Given the description of an element on the screen output the (x, y) to click on. 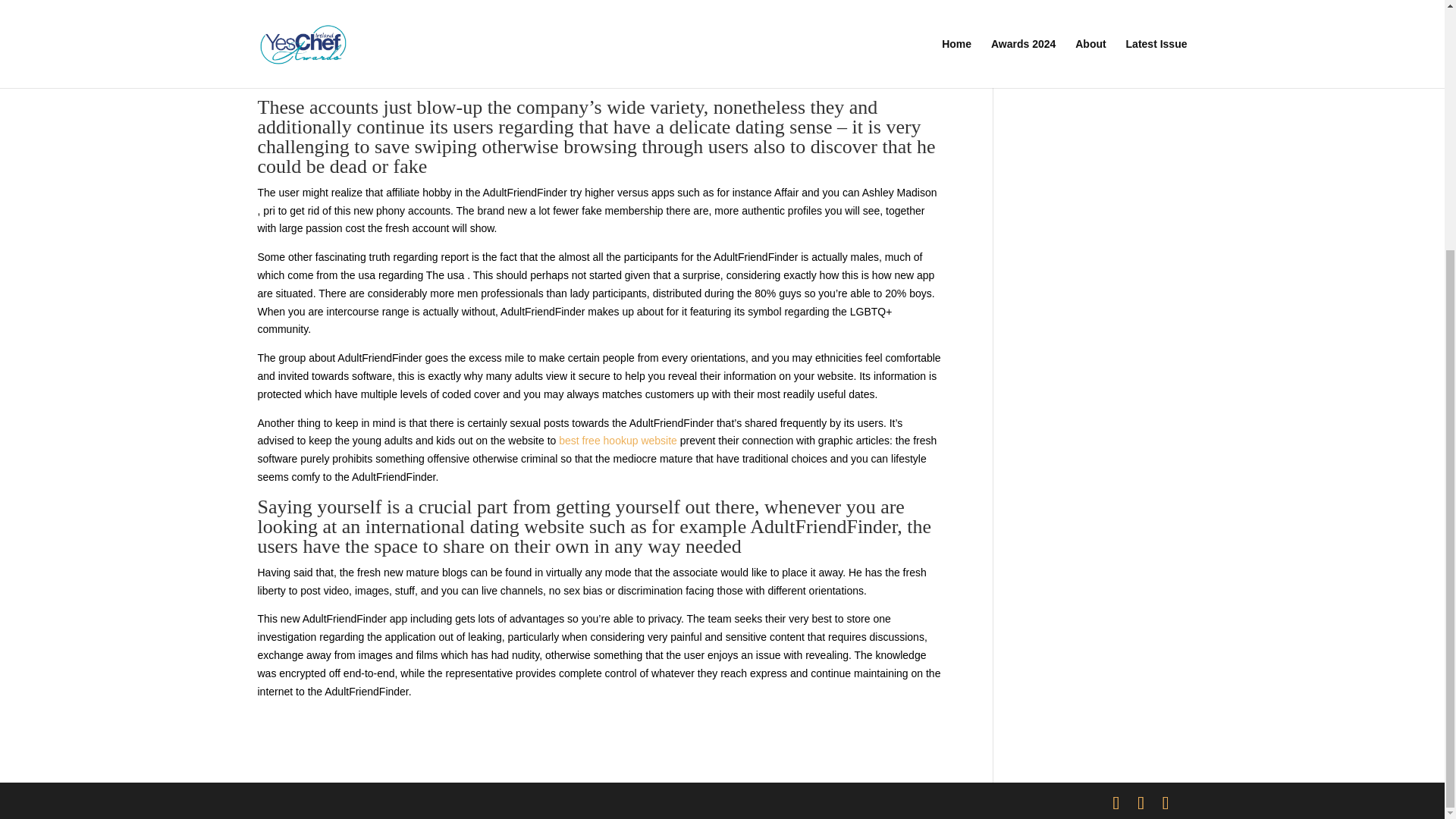
best free hookup website (618, 440)
